Given the description of an element on the screen output the (x, y) to click on. 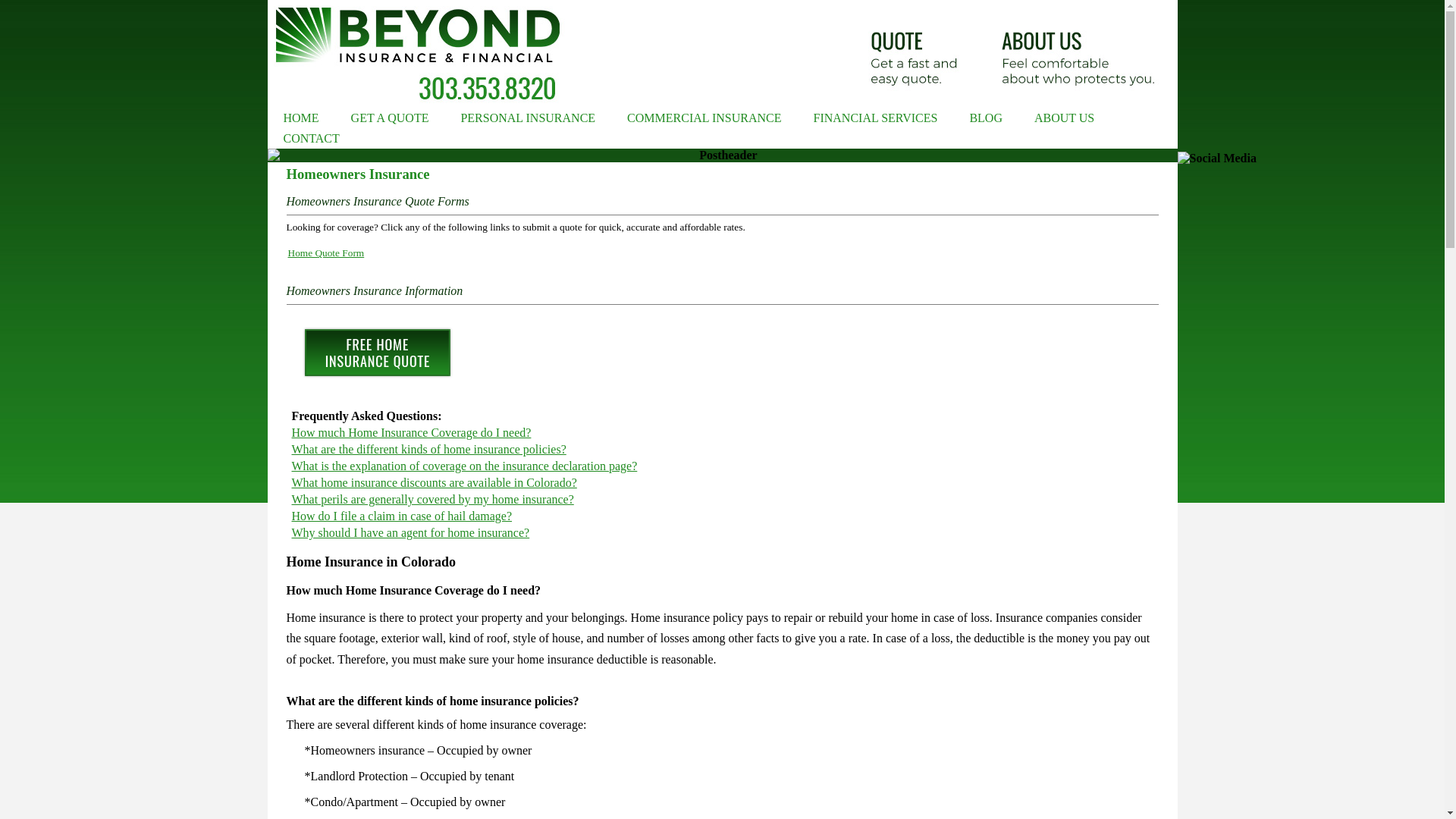
What are the different kinds of home insurance policies? (428, 449)
GET A QUOTE (389, 117)
How much Home Insurance Coverage do I need? (411, 431)
How do I file a claim in case of hail damage? (401, 515)
CONTACT (310, 137)
Why should I have an agent for home insurance? (410, 532)
What home insurance discounts are available in Colorado? (433, 481)
BLOG (985, 117)
HOME (300, 117)
ABOUT US (1063, 117)
What perils are generally covered by my home insurance? (432, 499)
COMMERCIAL INSURANCE (703, 117)
FINANCIAL SERVICES (875, 117)
PERSONAL INSURANCE (527, 117)
